Given the description of an element on the screen output the (x, y) to click on. 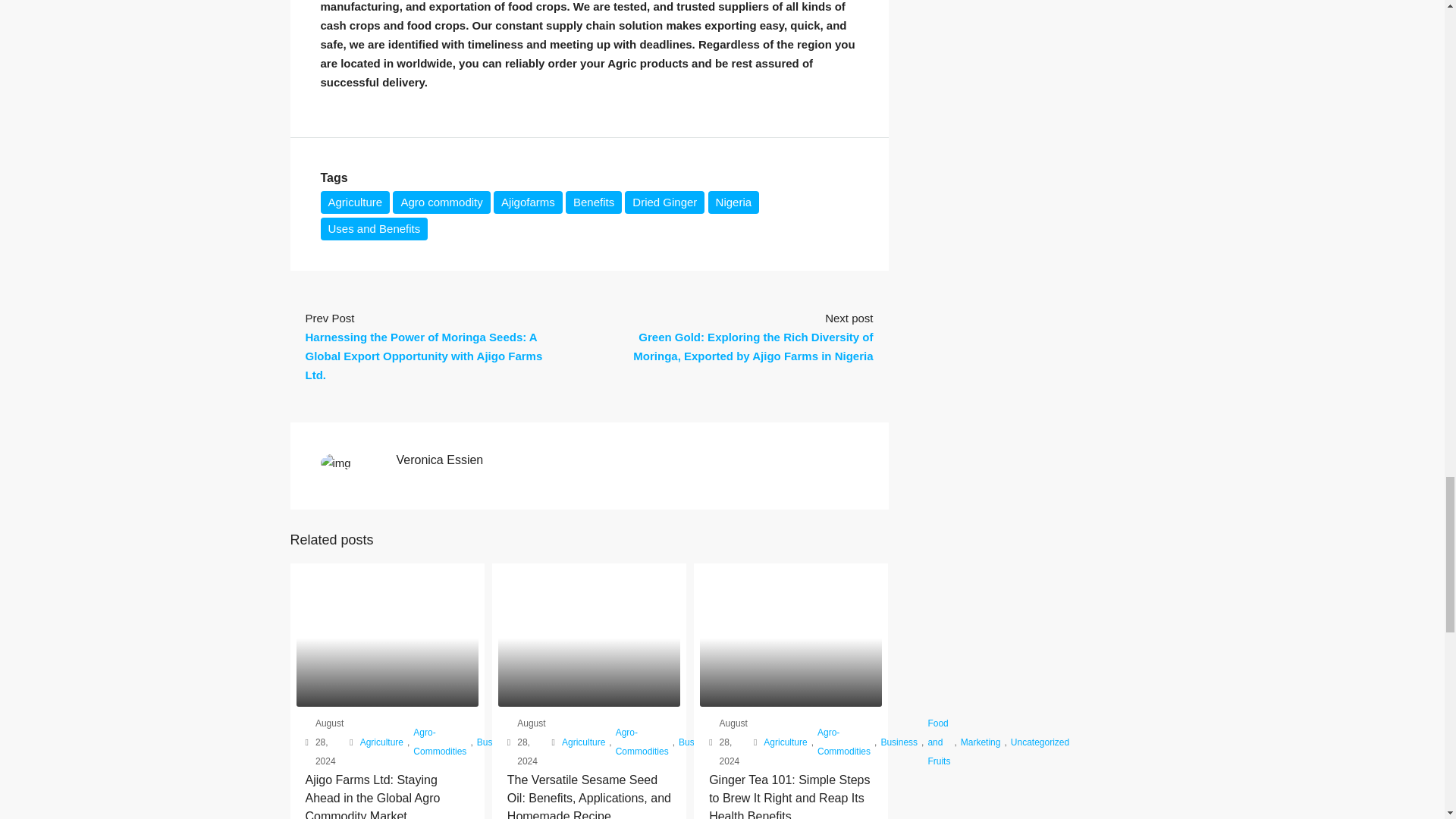
Nigeria (733, 201)
Ajigofarms (527, 201)
Dried Ginger (664, 201)
Agriculture (355, 201)
Agro commodity (441, 201)
Benefits (593, 201)
Agriculture (381, 742)
Business (495, 742)
